Given the description of an element on the screen output the (x, y) to click on. 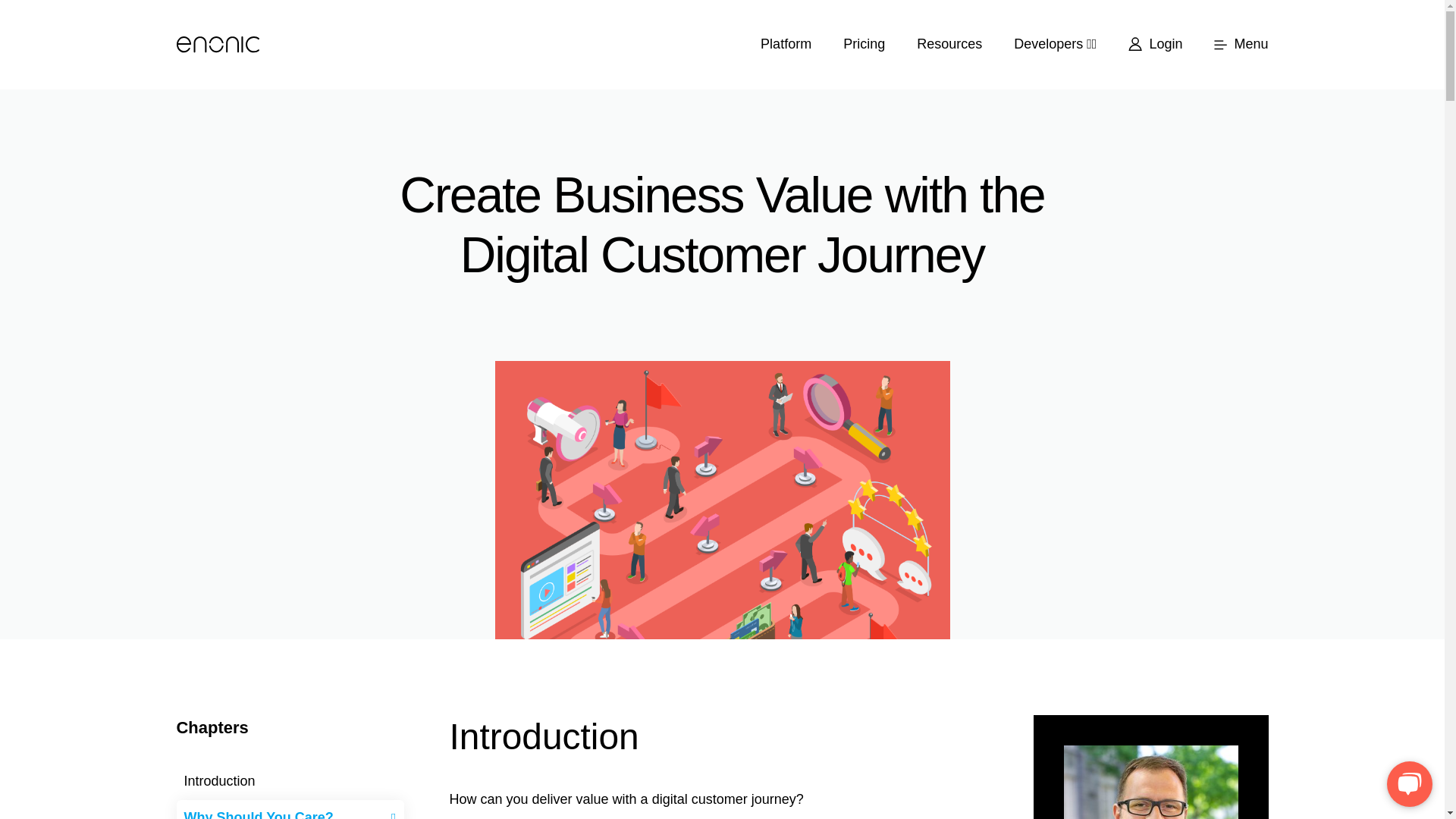
Menu (1233, 44)
Why Should You Care? (289, 809)
Login (1155, 44)
Introduction (289, 781)
Pricing (864, 44)
Resources (949, 44)
Platform (785, 44)
